Given the description of an element on the screen output the (x, y) to click on. 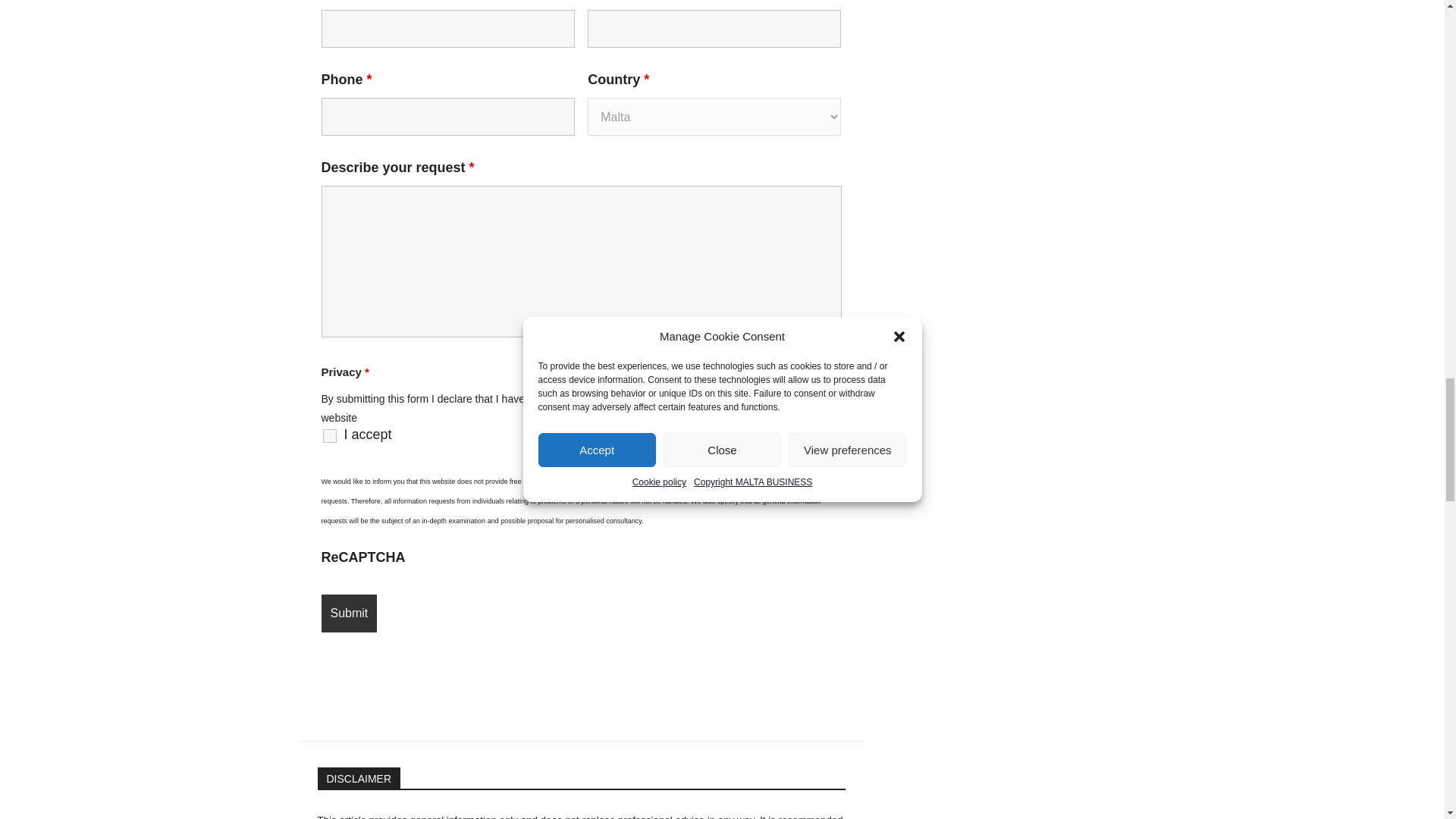
Submit (349, 613)
